Given the description of an element on the screen output the (x, y) to click on. 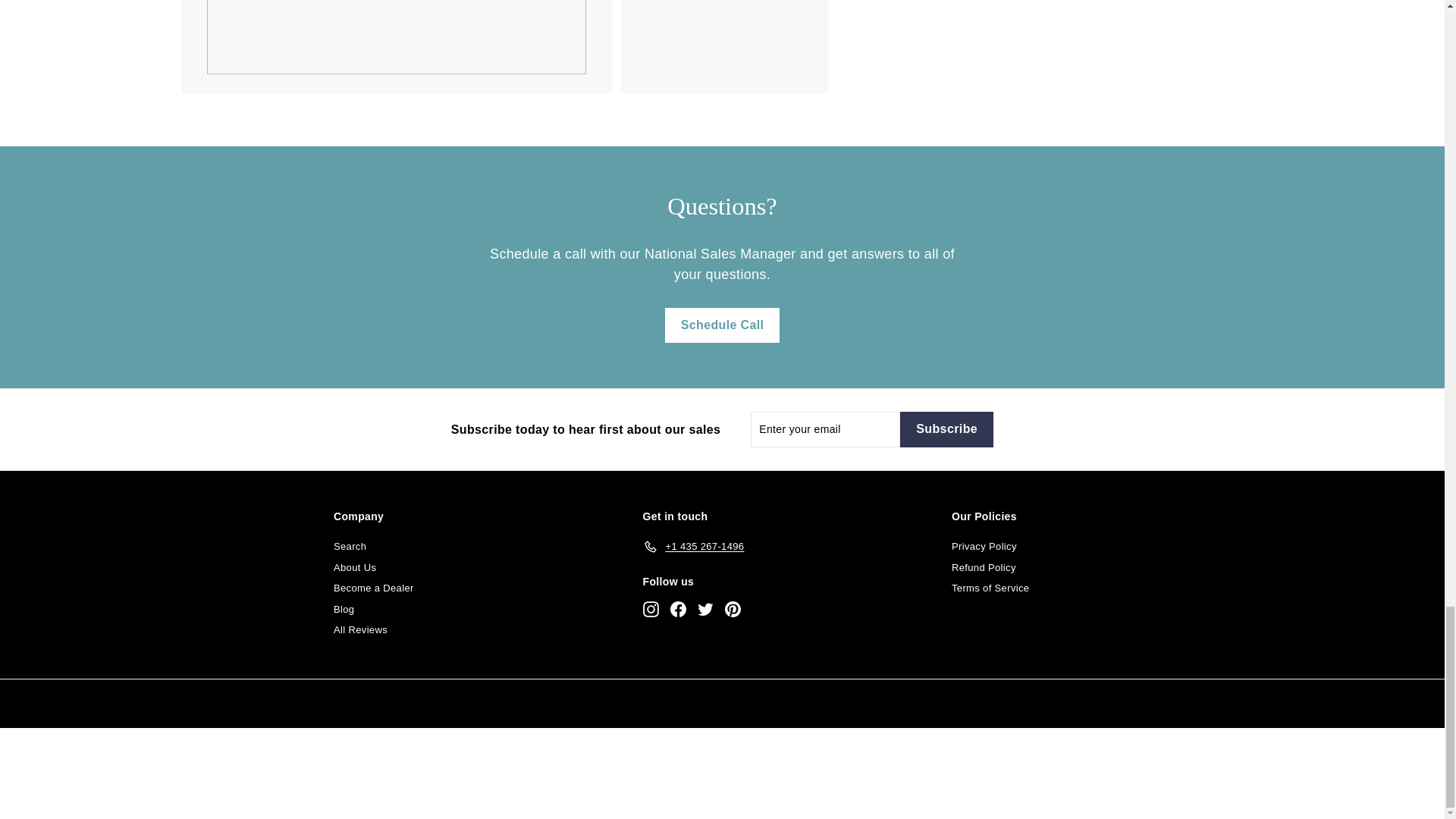
Trone Plumbing on Pinterest (733, 609)
Trone Plumbing on Twitter (705, 609)
Trone Plumbing on Facebook (677, 609)
Trone Plumbing on Instagram (651, 609)
